Given the description of an element on the screen output the (x, y) to click on. 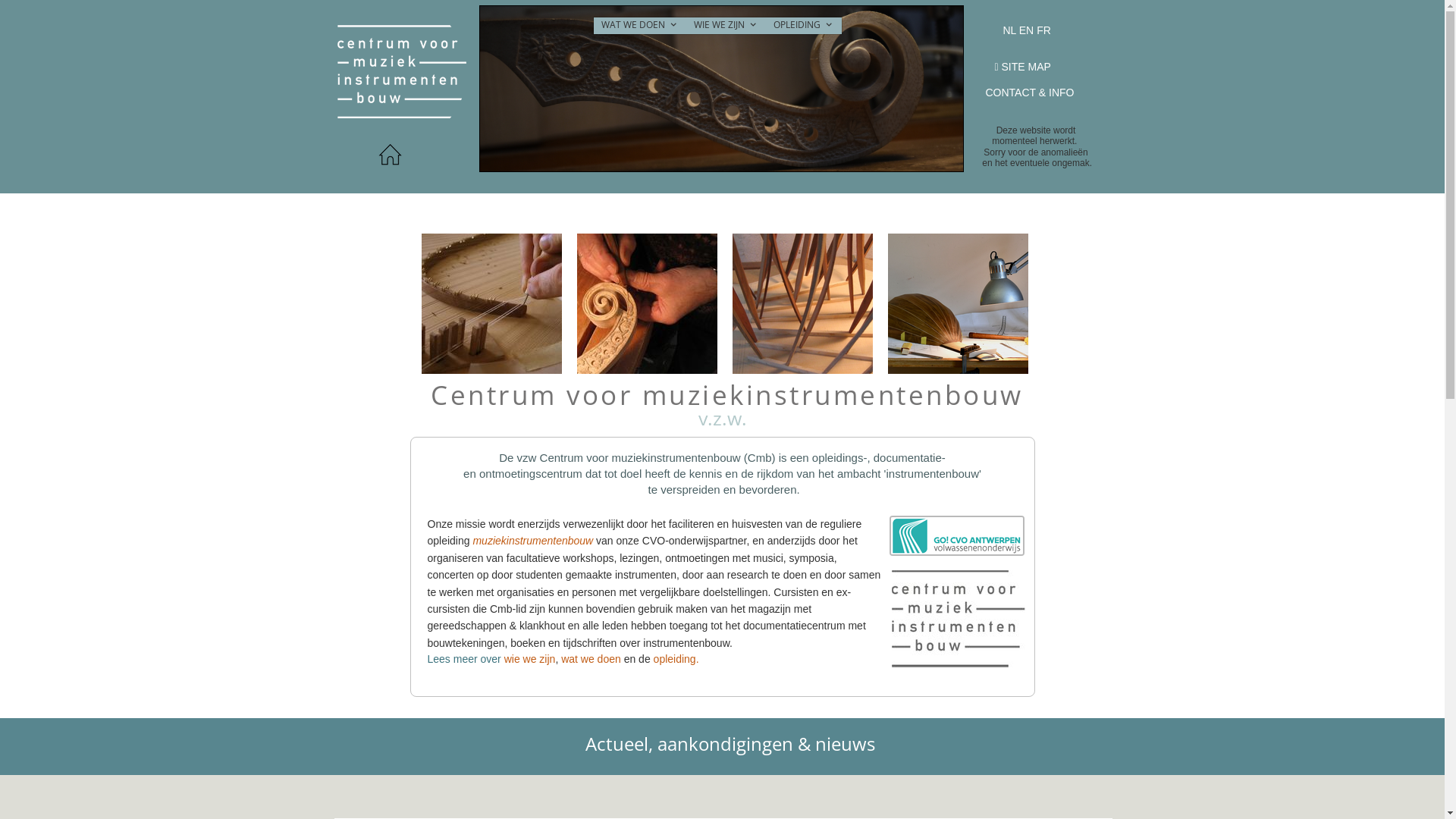
NL Element type: text (1010, 30)
wat we doen Element type: text (591, 658)
homepage Element type: hover (389, 154)
wie we zijn Element type: text (529, 658)
muziekinstrumentenbouw Element type: text (532, 540)
cvo antwerpen Element type: hover (956, 535)
CONTACT & INFO Element type: text (1029, 92)
  Element type: text (720, 12)
WAT WE DOEN Element type: text (639, 25)
EN Element type: text (1026, 30)
FR  Element type: text (1045, 30)
WIE WE ZIJN Element type: text (725, 25)
opleiding. Element type: text (676, 658)
OPLEIDING Element type: text (803, 25)
